Given the description of an element on the screen output the (x, y) to click on. 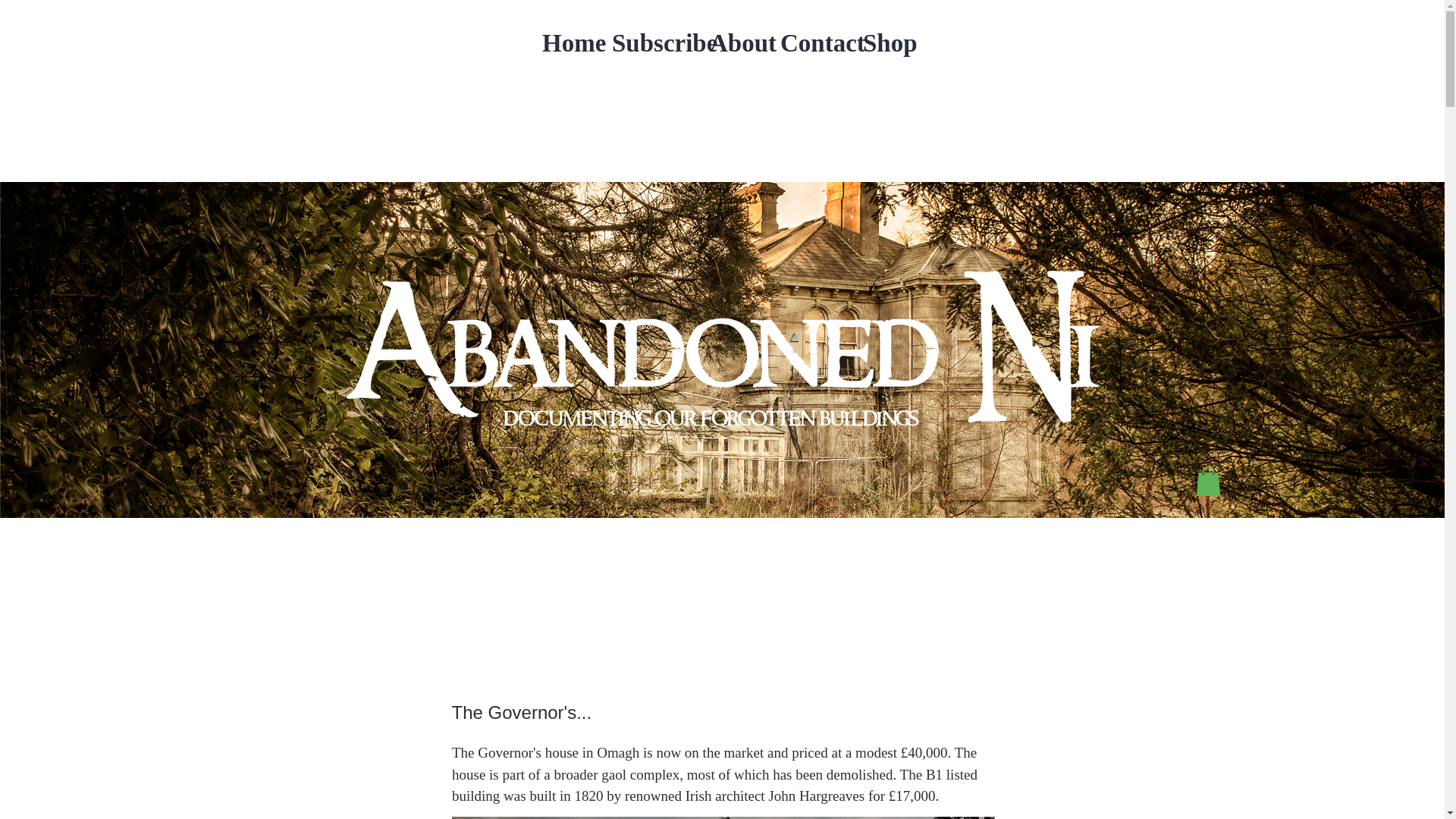
Home (565, 43)
Contact (809, 43)
Shop (881, 43)
About (733, 43)
Subscribe (648, 43)
